Given the description of an element on the screen output the (x, y) to click on. 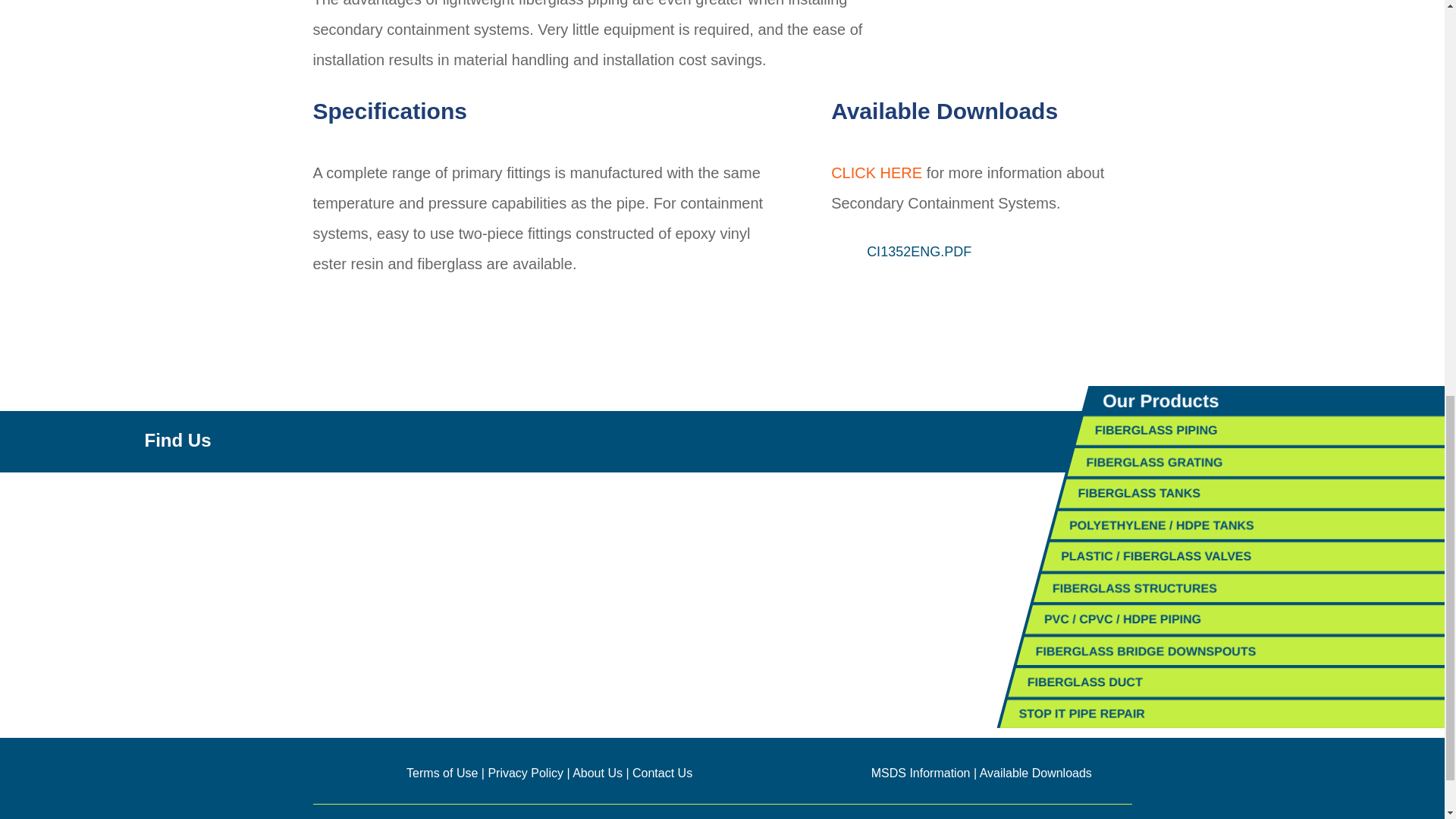
Privacy Policy (525, 772)
MSDS Information (920, 772)
Available Downloads (1035, 772)
Terms of Use (441, 772)
About Us (597, 772)
Contact Us (662, 772)
CLICK HERE (876, 172)
